Given the description of an element on the screen output the (x, y) to click on. 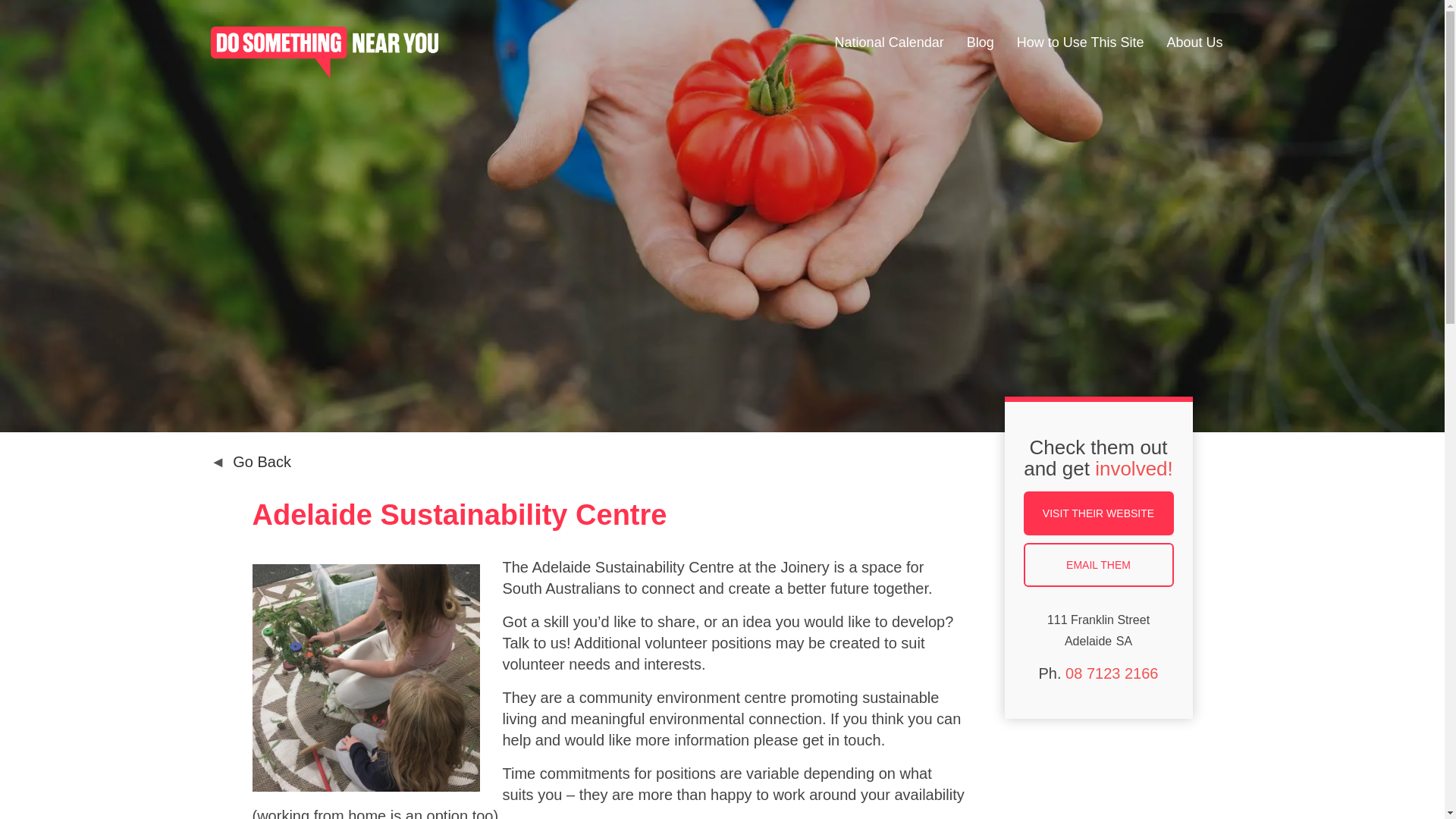
Go Back (251, 461)
Blog (980, 44)
How to Use This Site (1080, 44)
National Calendar (888, 44)
VISIT THEIR WEBSITE (1098, 513)
About Us (1194, 44)
EMAIL THEM (1098, 564)
